Given the description of an element on the screen output the (x, y) to click on. 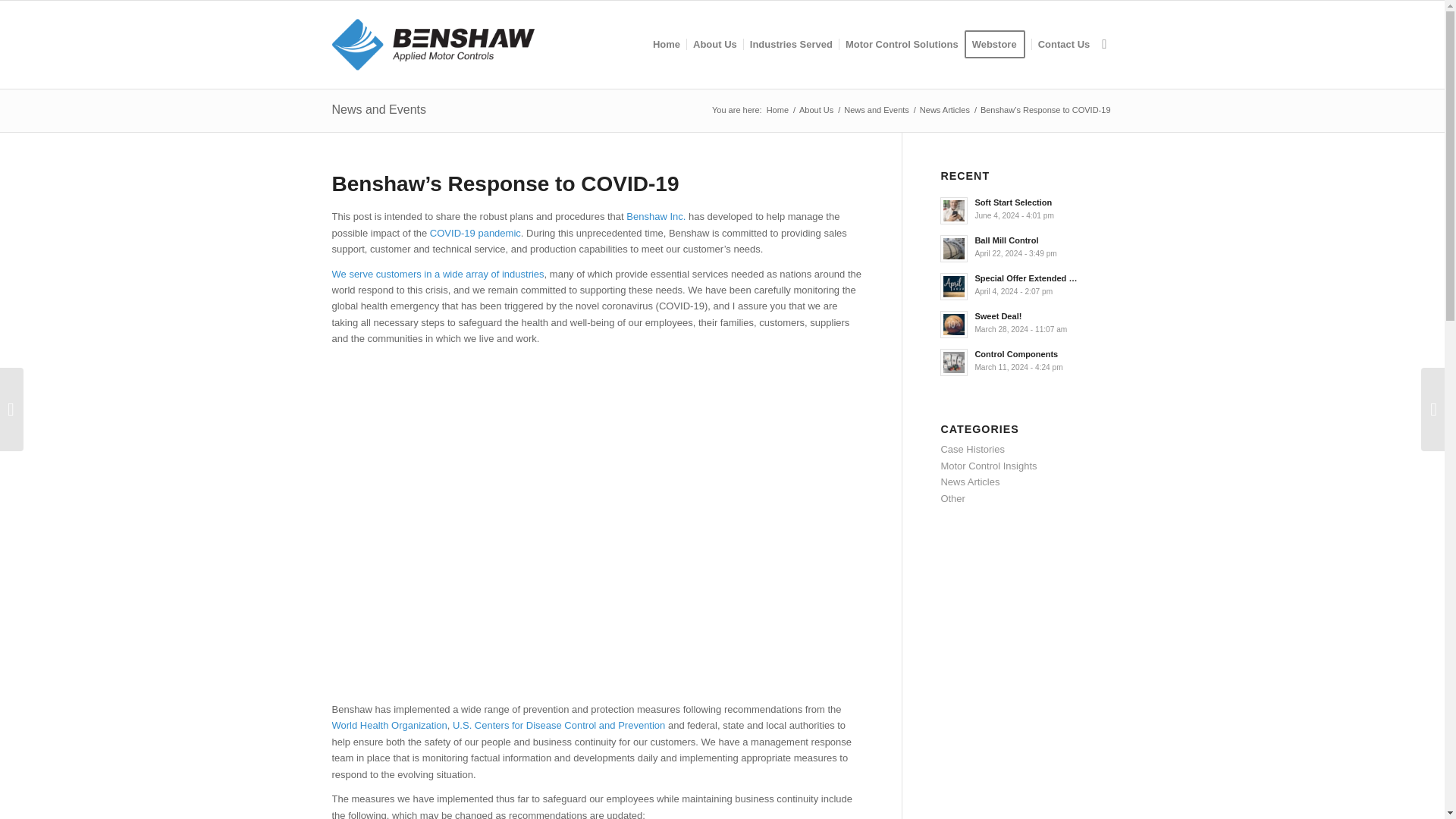
Motor Control Solutions (900, 44)
About Us (815, 110)
Industries Served (790, 44)
News and Events (876, 110)
Permanent Link: News and Events (378, 109)
Benshaw Inc. (777, 110)
